Given the description of an element on the screen output the (x, y) to click on. 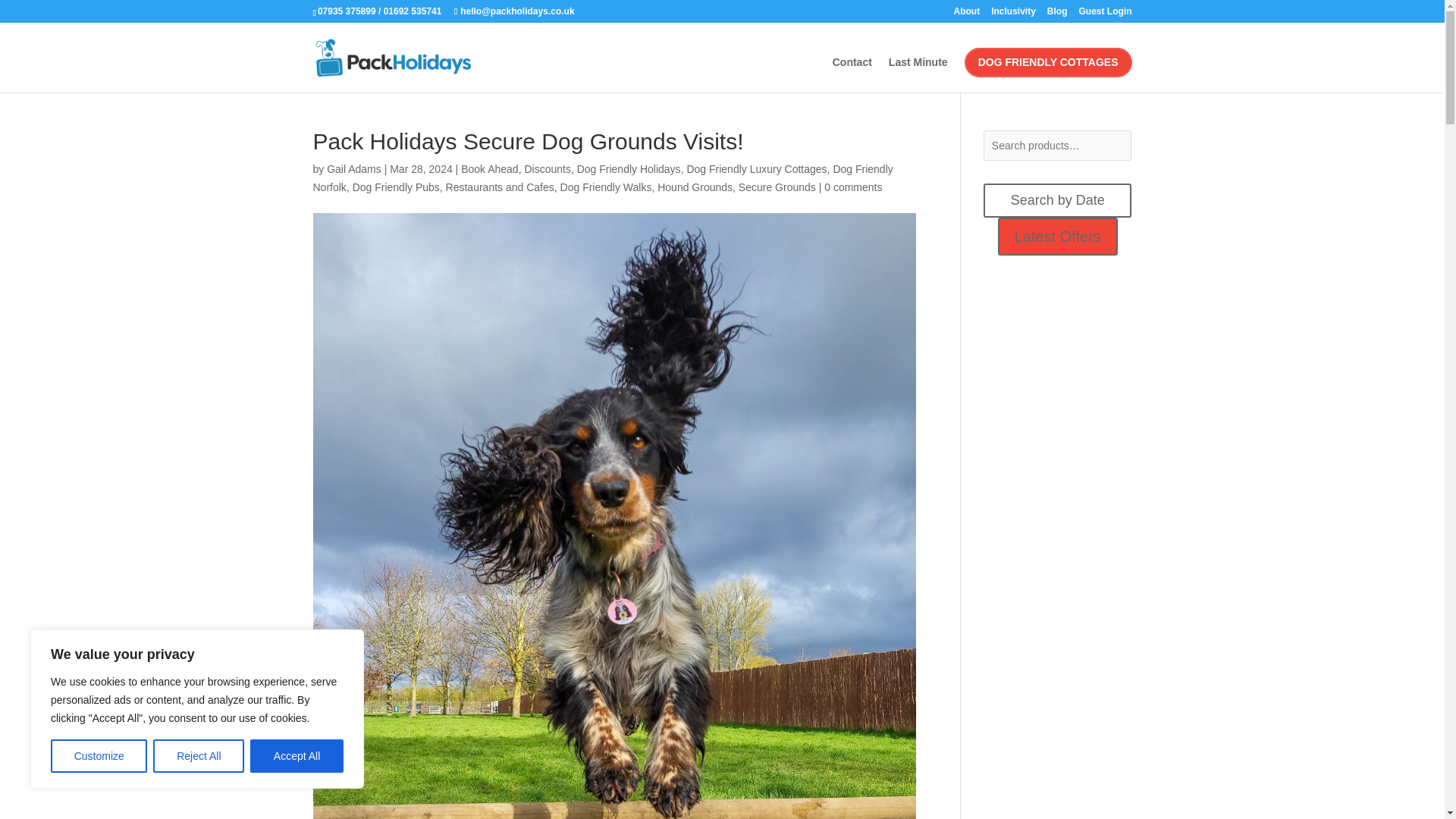
Posts by Gail Adams (353, 168)
DOG FRIENDLY COTTAGES (1047, 61)
Dog Friendly Luxury Cottages (756, 168)
Discounts (547, 168)
Guest Login (1104, 14)
Contact (852, 74)
07935 375899 (346, 10)
Reject All (198, 756)
Gail Adams (353, 168)
Accept All (296, 756)
